Given the description of an element on the screen output the (x, y) to click on. 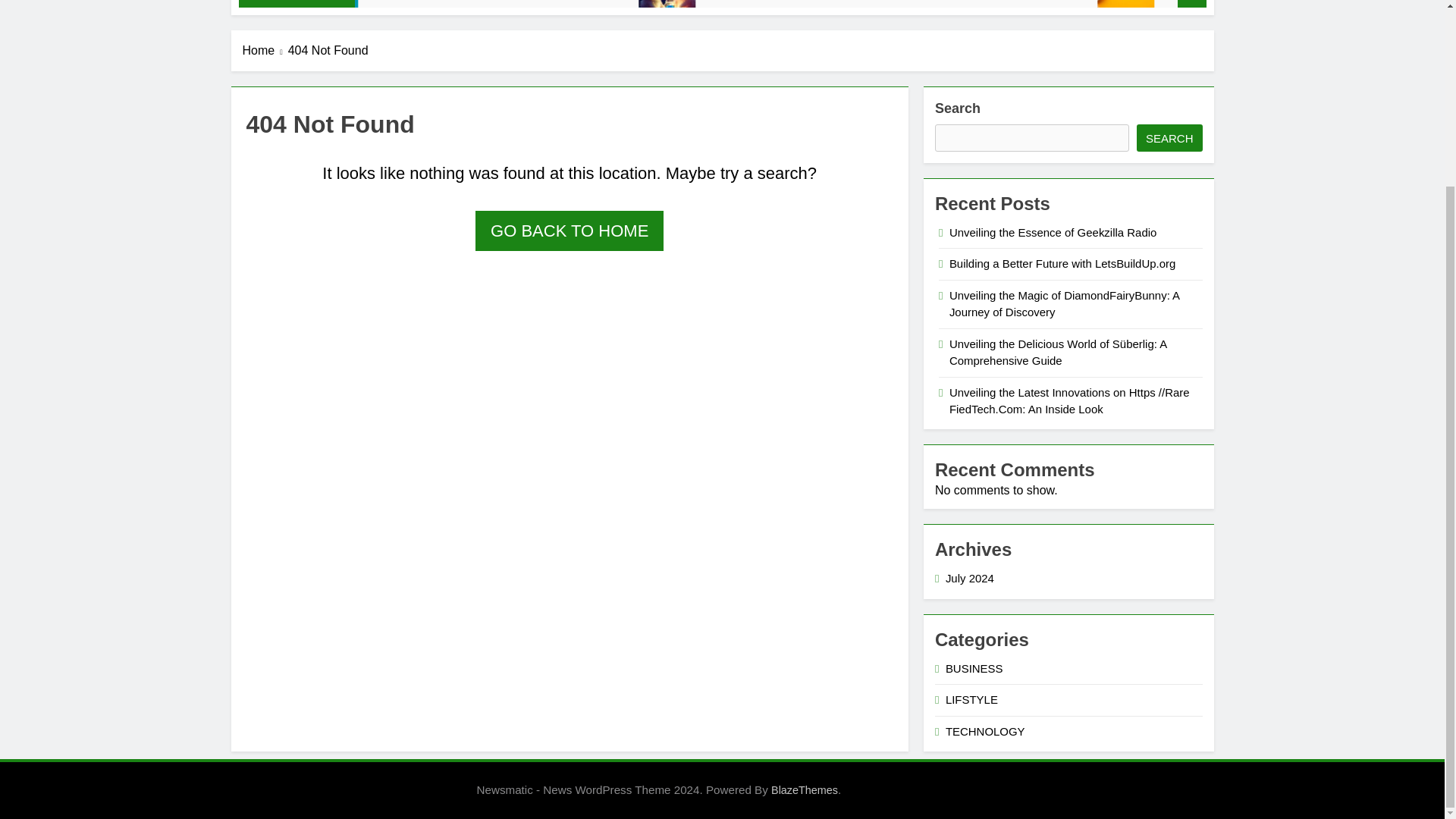
Building a Better Future with LetsBuildUp.org (622, 11)
Building a Better Future with LetsBuildUp.org (619, 11)
